Given the description of an element on the screen output the (x, y) to click on. 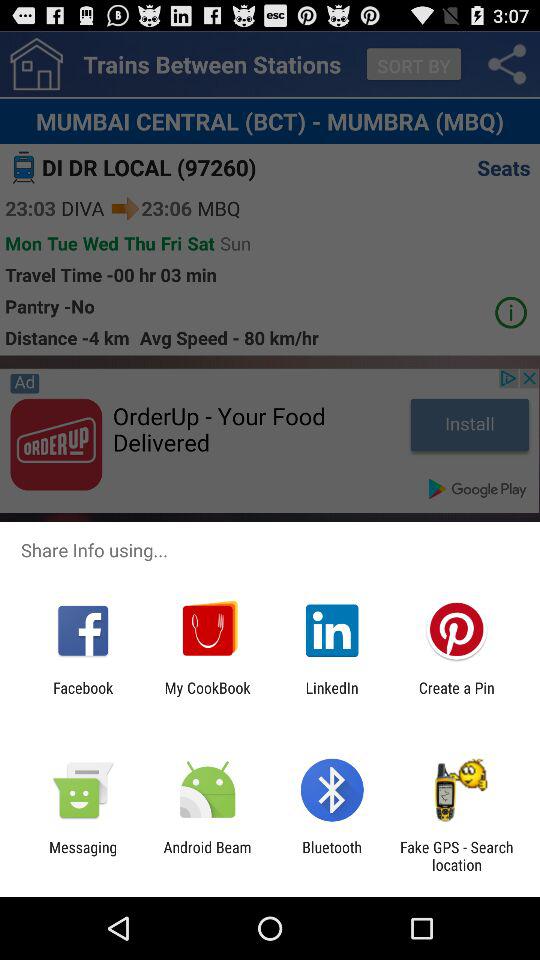
jump to the fake gps search icon (456, 856)
